Given the description of an element on the screen output the (x, y) to click on. 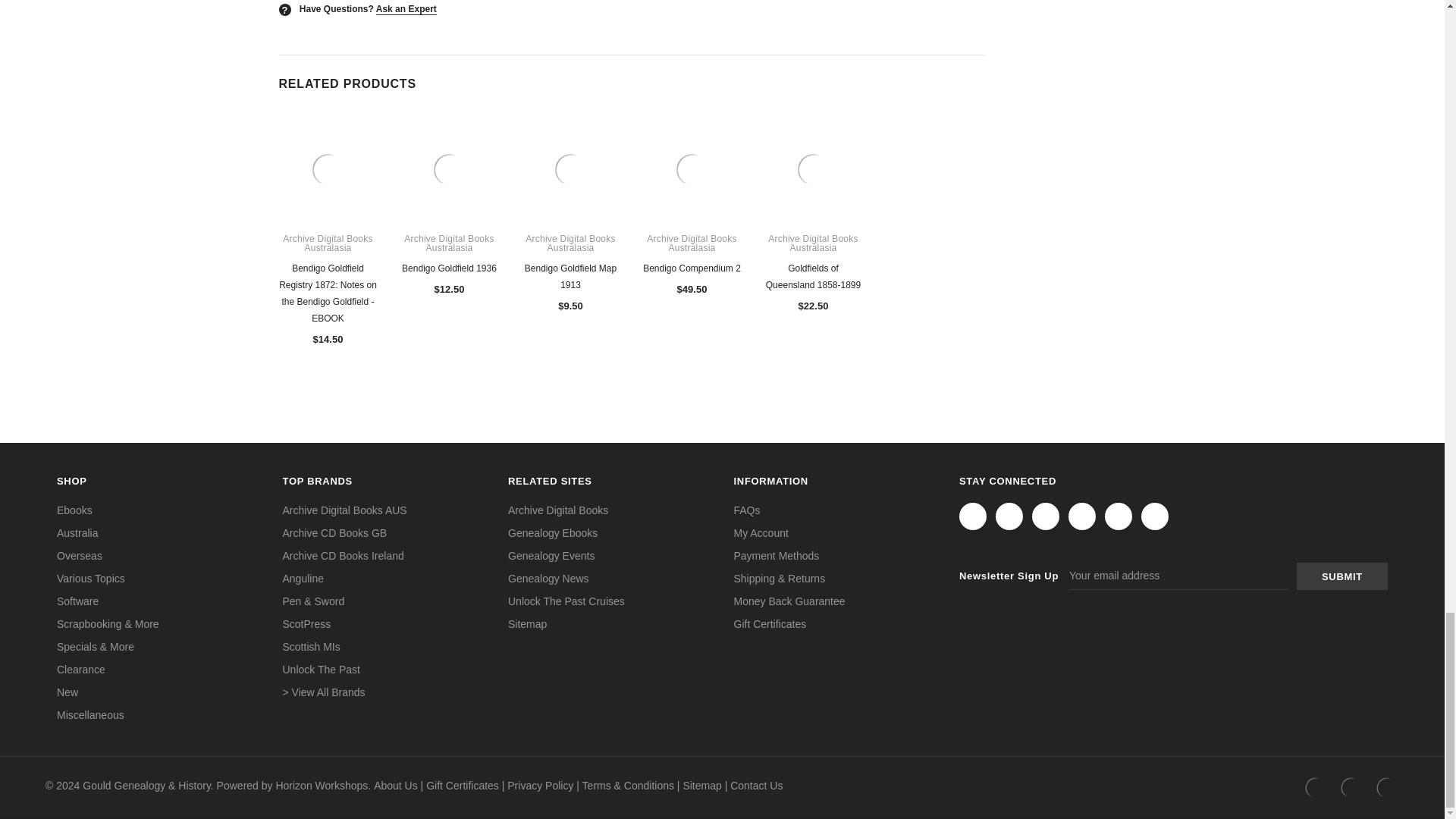
Bendigo Goldfield 1936 (449, 169)
Submit (1342, 575)
